Given the description of an element on the screen output the (x, y) to click on. 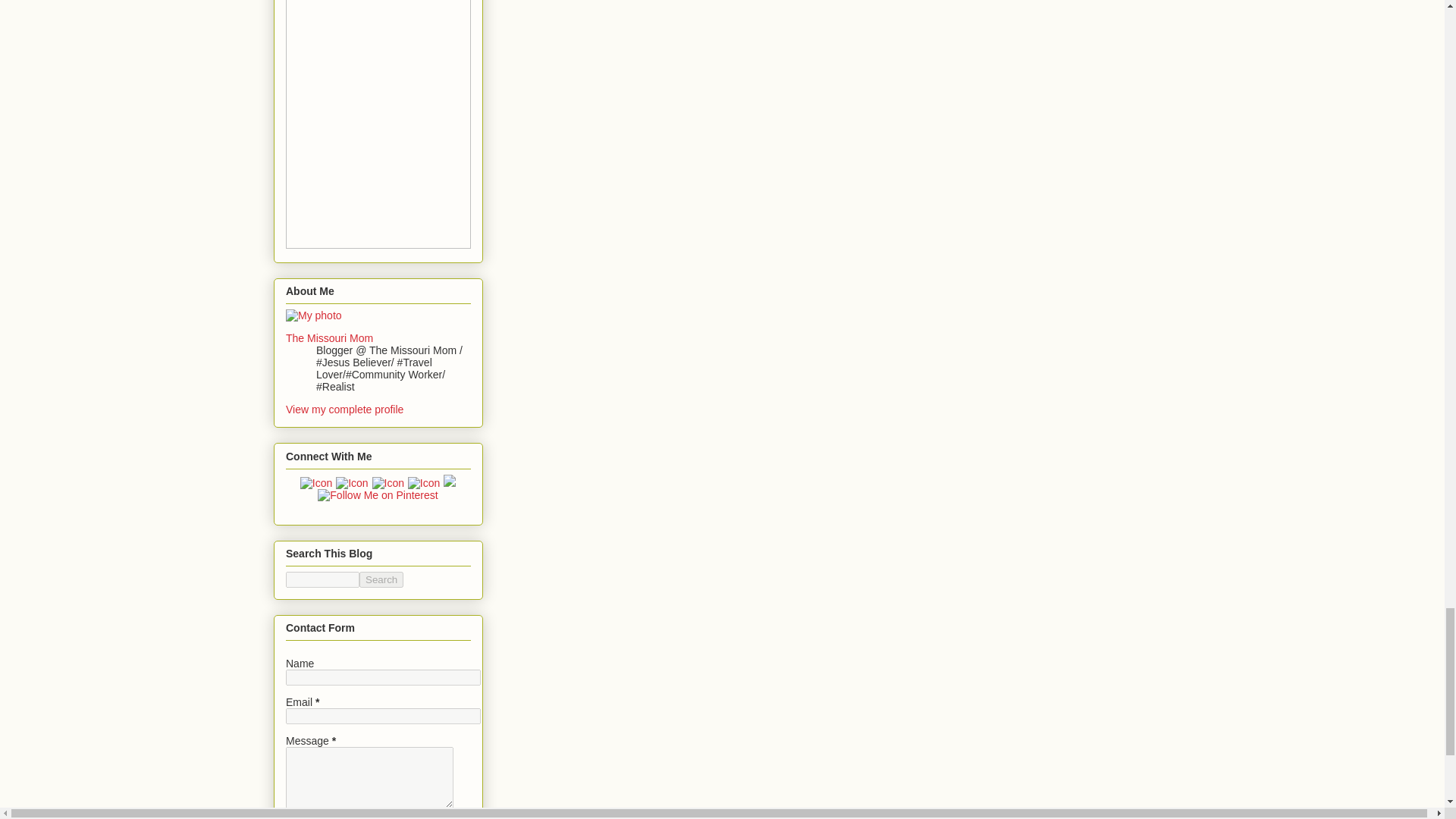
Search (381, 579)
Get Free Updates Via Email (352, 482)
Search (381, 579)
The Missouri Mom (328, 337)
Like Our Facebook Page (387, 482)
Grab Our Rss Feed (316, 482)
Follow Our Updates On Twitter (424, 482)
View my complete profile (344, 409)
